Given the description of an element on the screen output the (x, y) to click on. 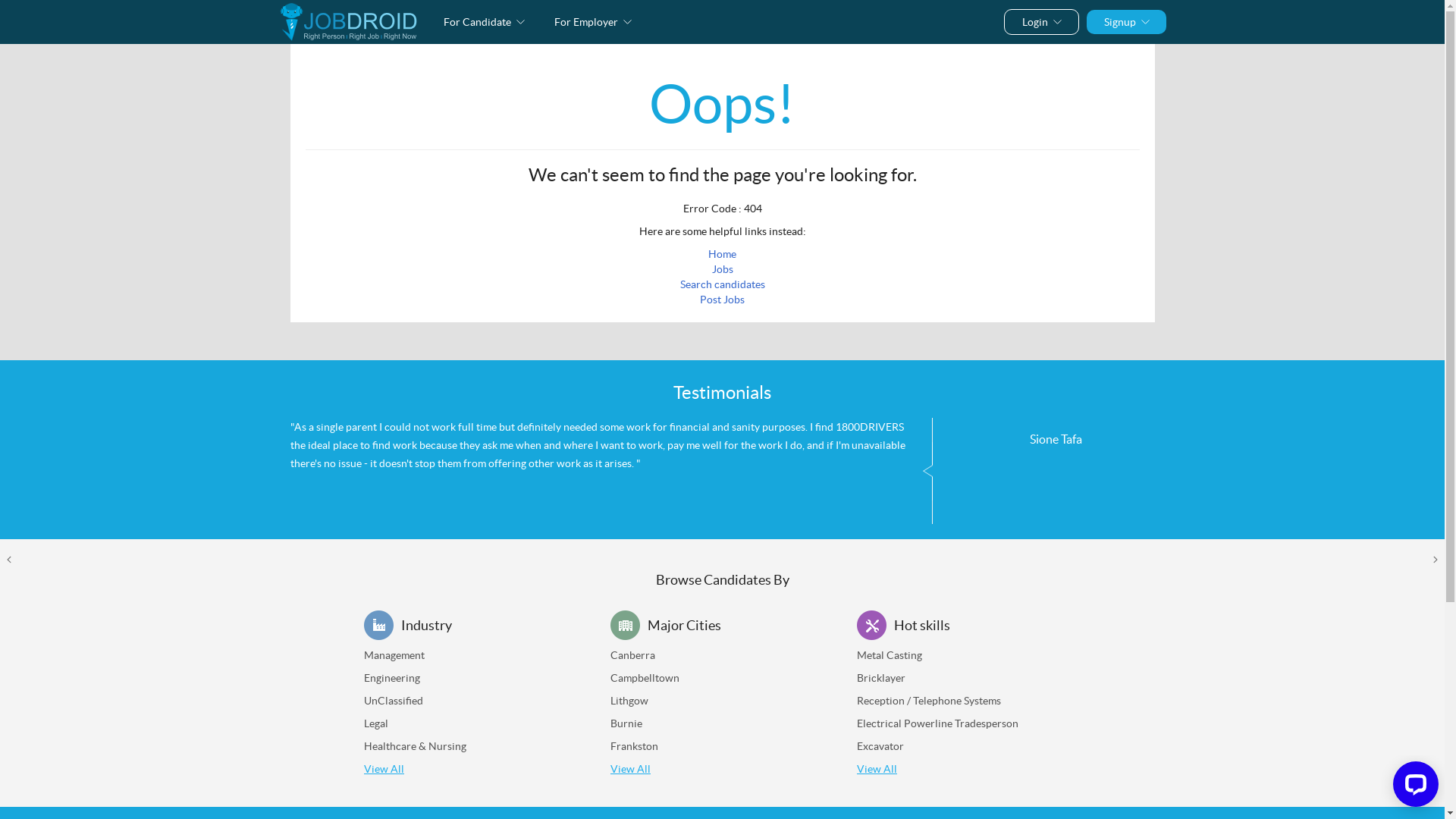
View All Element type: text (630, 768)
 Login Element type: text (1040, 21)
Electrical Powerline Tradesperson Element type: text (937, 723)
Post Jobs Element type: text (721, 299)
Legal Element type: text (376, 723)
 For Employer Element type: text (592, 21)
Home Element type: text (722, 253)
 Signup Element type: text (1125, 21)
Campbelltown Element type: text (644, 677)
Engineering Element type: text (392, 677)
 For Candidate Element type: text (483, 21)
Excavator Element type: text (879, 746)
Jobs Element type: text (721, 269)
Management Element type: text (394, 655)
Search candidates Element type: text (721, 284)
Healthcare & Nursing Element type: text (415, 746)
Frankston Element type: text (634, 746)
Reception / Telephone Systems Element type: text (928, 700)
Canberra Element type: text (632, 655)
Burnie Element type: text (626, 723)
View All Element type: text (384, 768)
View All Element type: text (876, 768)
Metal Casting Element type: text (889, 655)
UnClassified Element type: text (393, 700)
Lithgow Element type: text (629, 700)
Bricklayer Element type: text (880, 677)
